Given the description of an element on the screen output the (x, y) to click on. 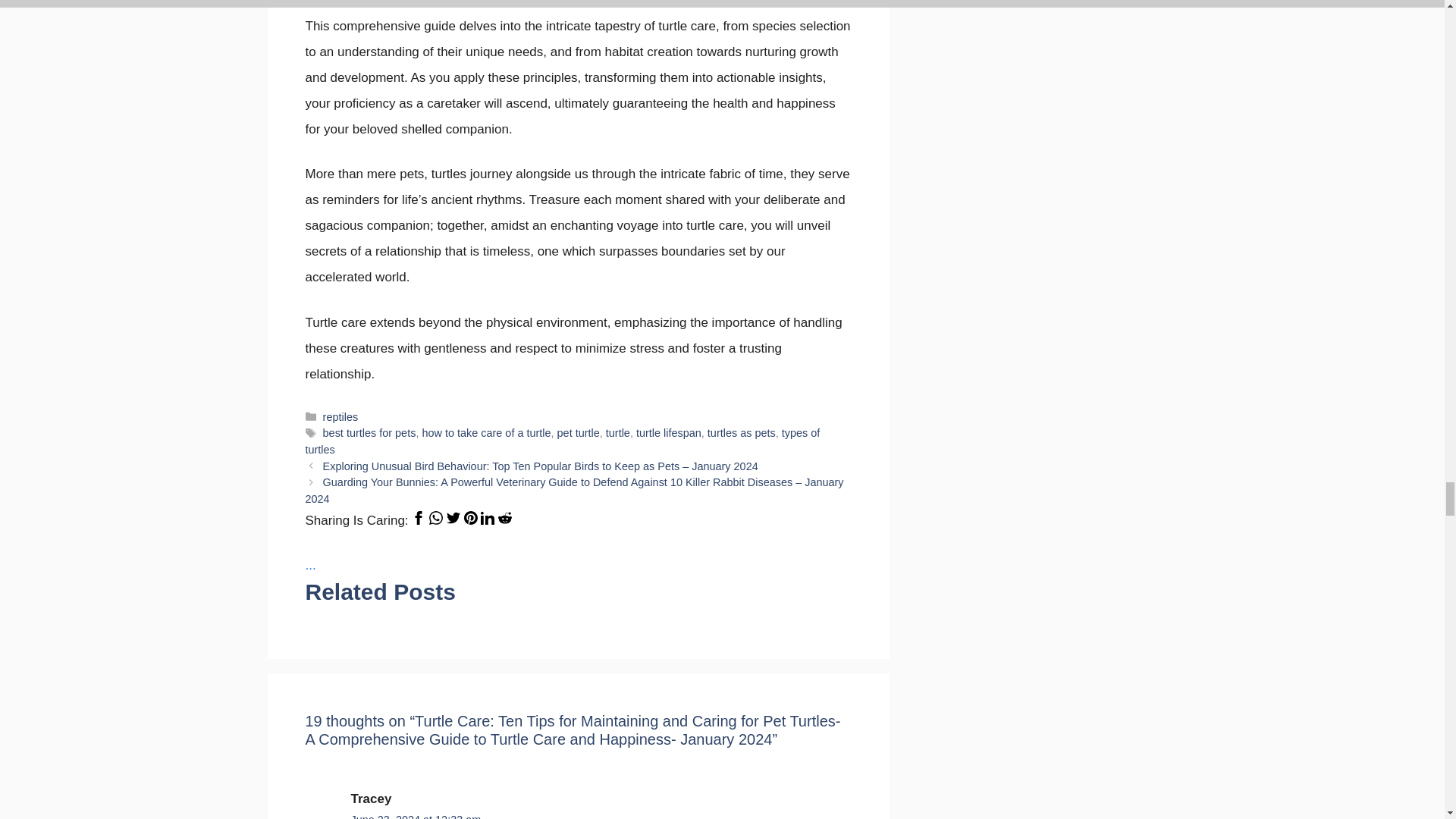
reptiles (340, 417)
June 23, 2024 at 12:33 am (415, 816)
turtles as pets (741, 432)
best turtles for pets (369, 432)
how to take care of a turtle (486, 432)
turtle (617, 432)
turtle lifespan (668, 432)
types of turtles (561, 440)
pet turtle (578, 432)
